Given the description of an element on the screen output the (x, y) to click on. 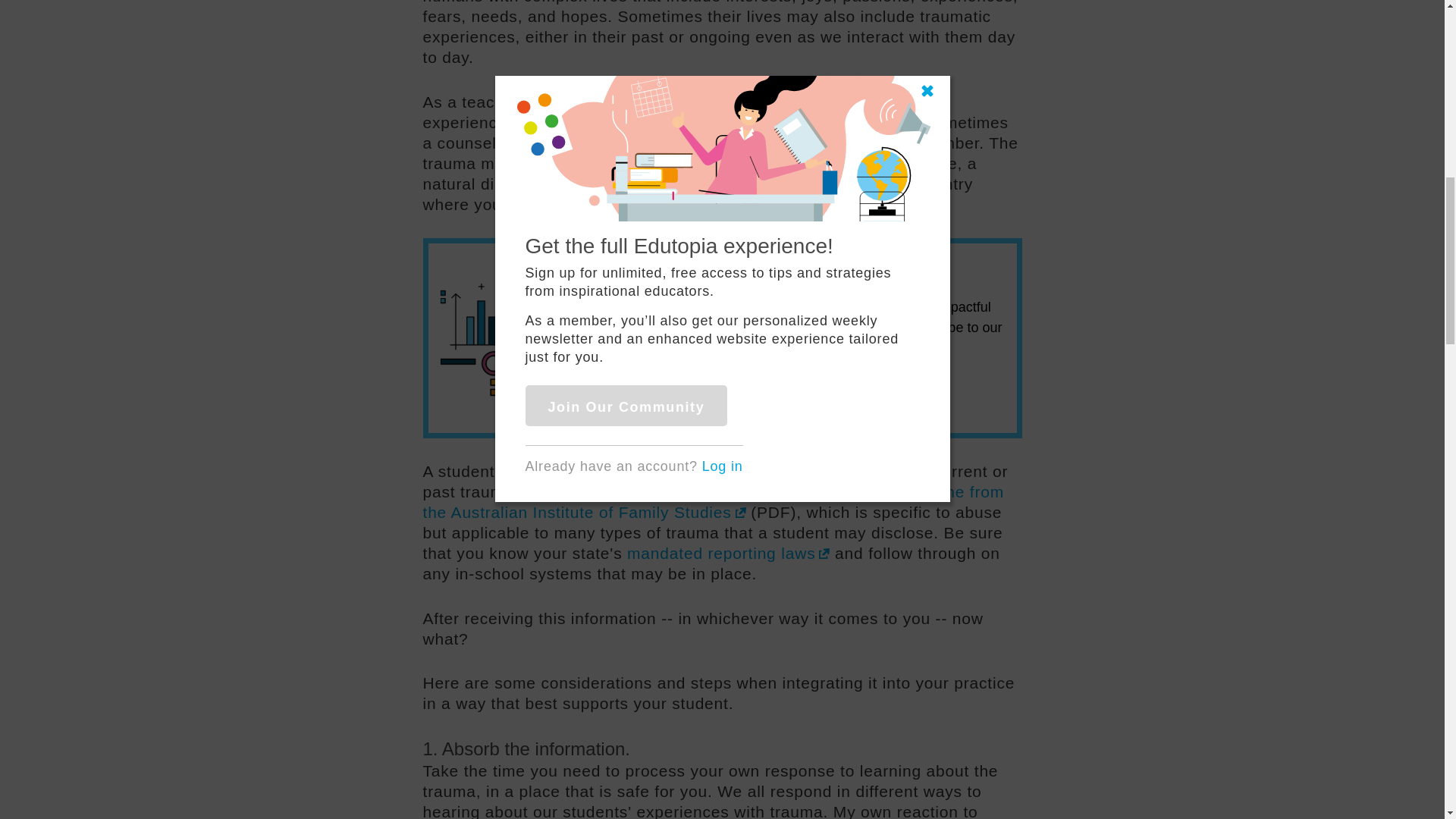
mandated reporting laws (728, 552)
